Given the description of an element on the screen output the (x, y) to click on. 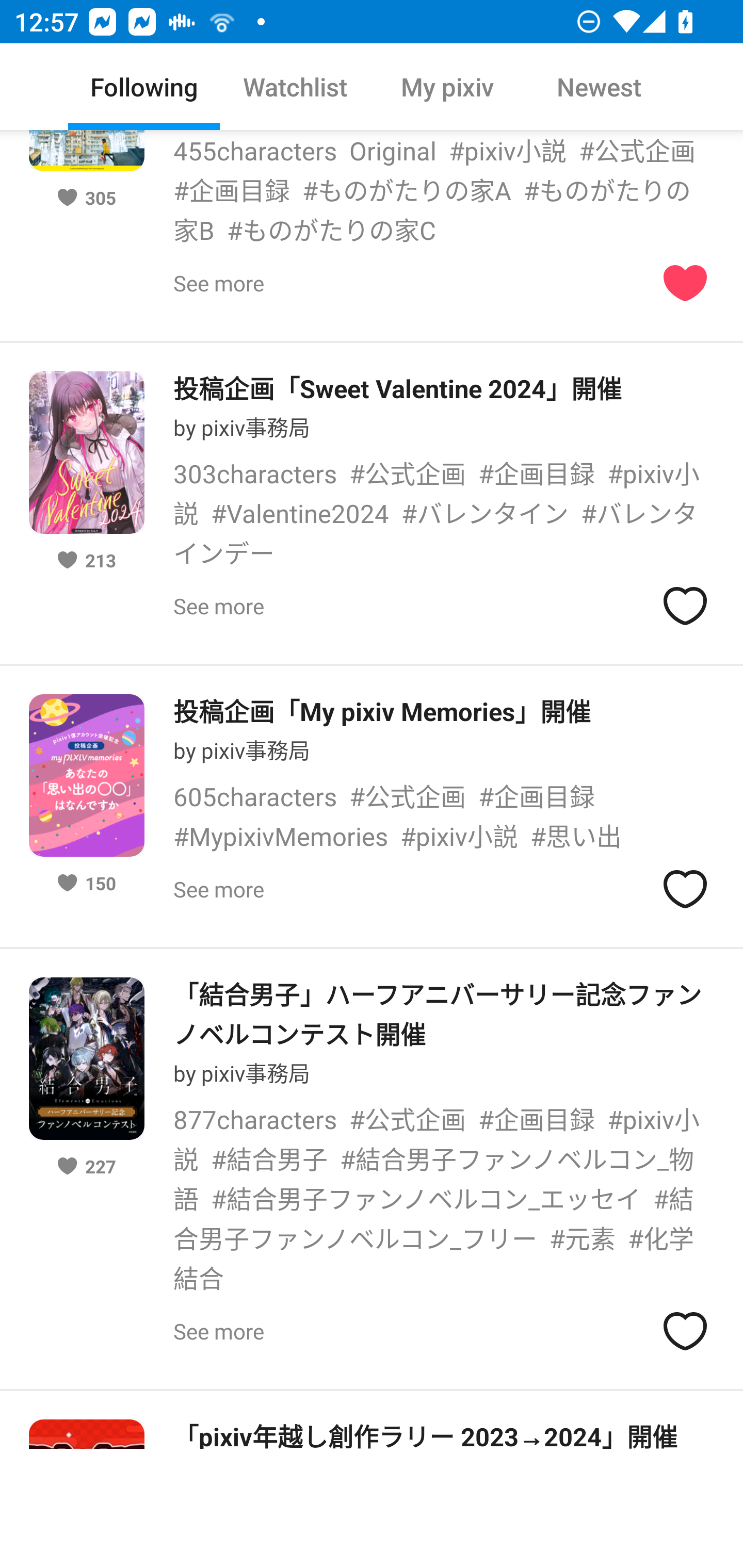
Watchlist (295, 86)
My pixiv (447, 86)
Newest (598, 86)
